Given the description of an element on the screen output the (x, y) to click on. 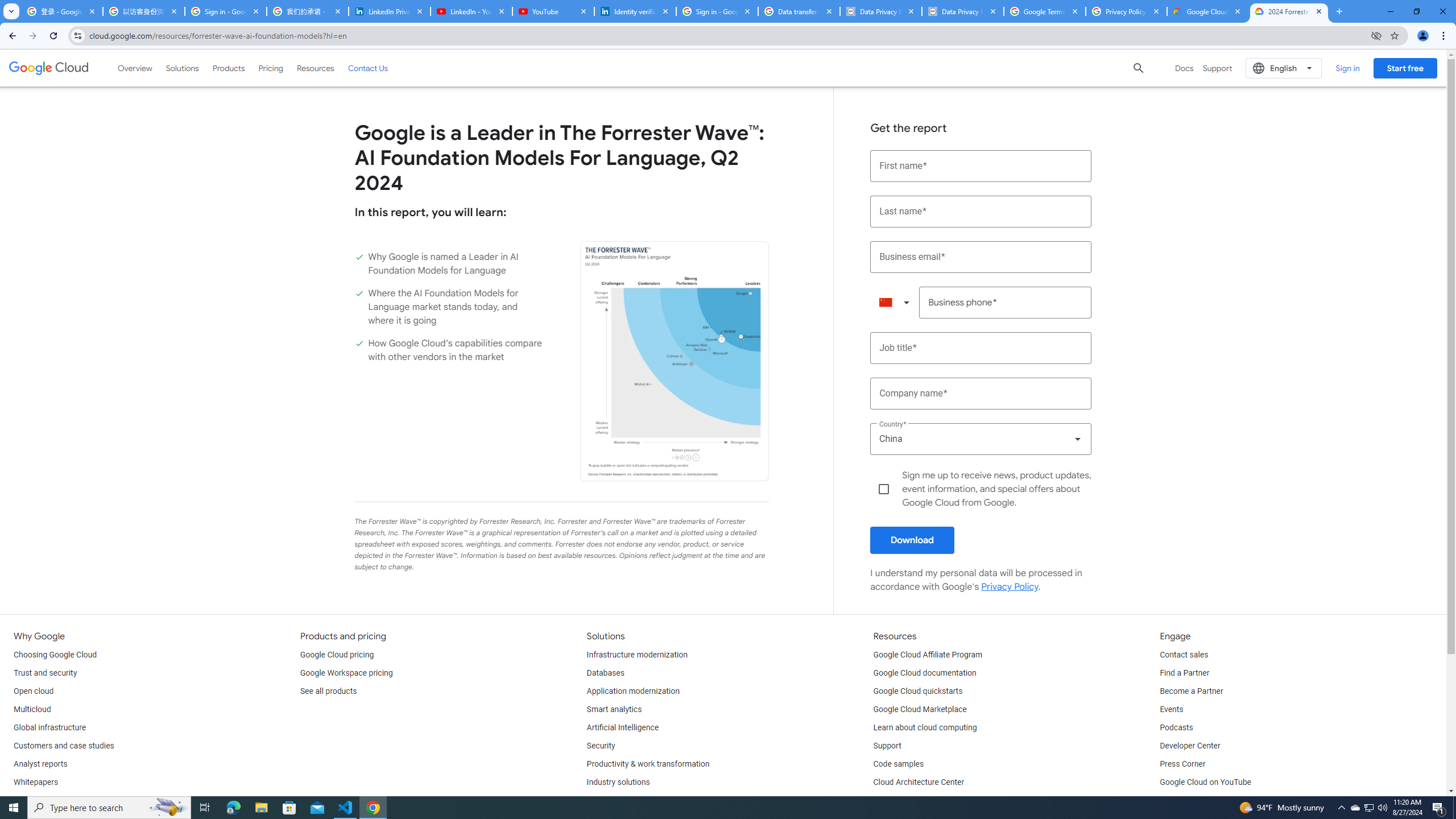
Cloud Architecture Center (918, 782)
Podcasts (1175, 728)
Analyst reports (39, 764)
Data Privacy Framework (880, 11)
Artificial Intelligence (622, 728)
